Given the description of an element on the screen output the (x, y) to click on. 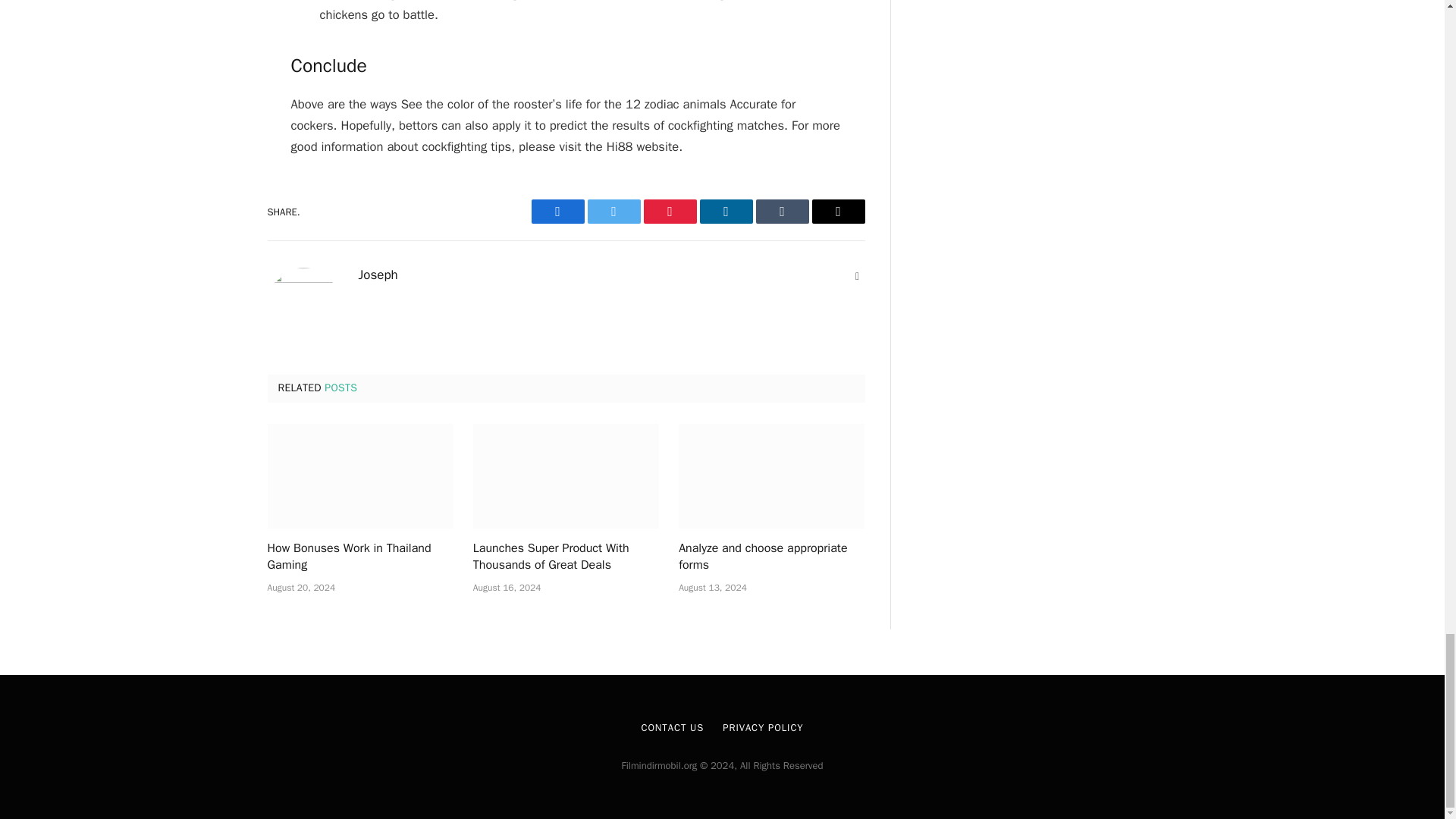
Facebook (557, 211)
Pinterest (669, 211)
Twitter (613, 211)
